Given the description of an element on the screen output the (x, y) to click on. 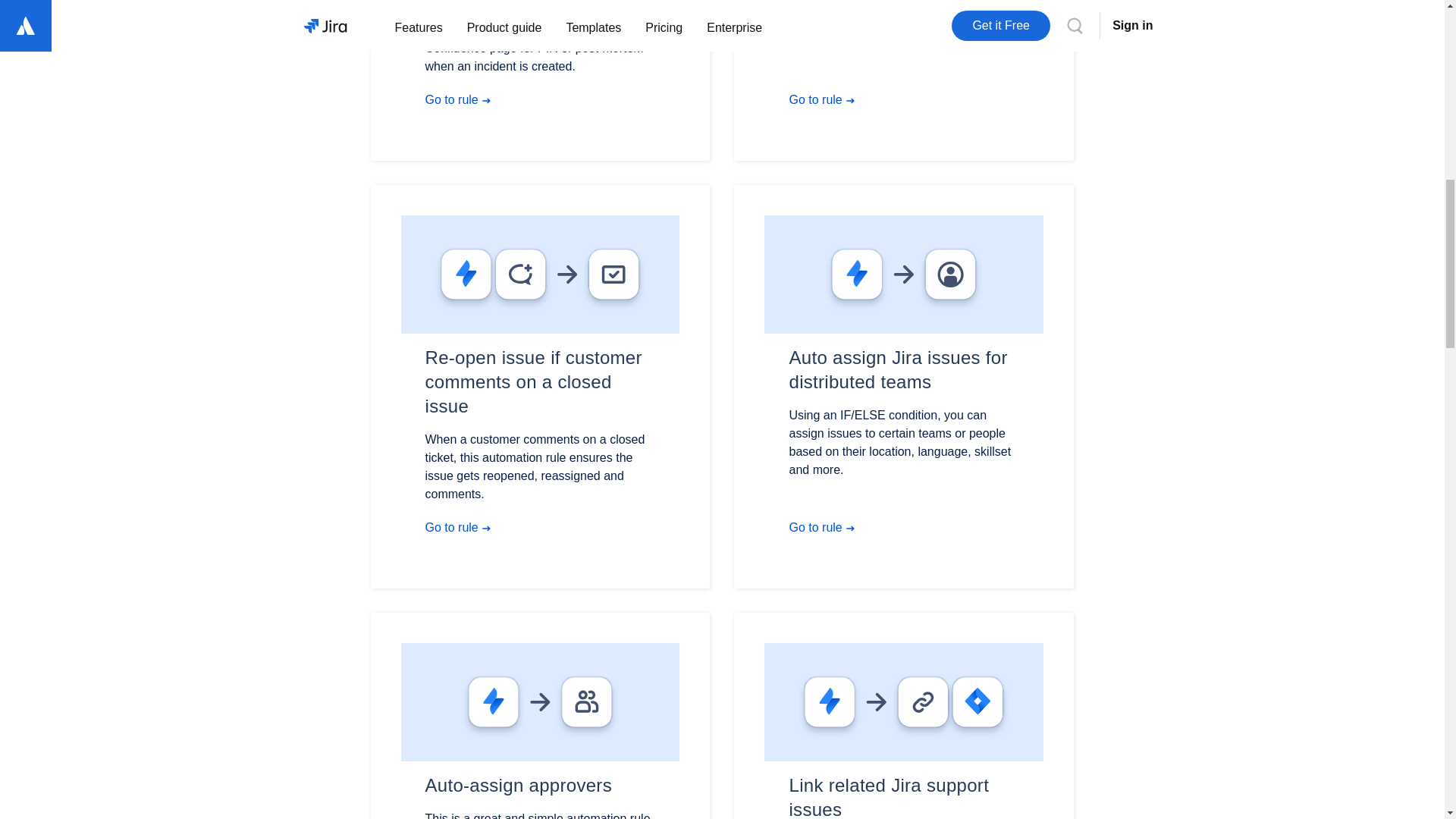
Go to rule (826, 527)
Go to rule (462, 100)
Go to rule (826, 100)
Go to rule (462, 527)
